Given the description of an element on the screen output the (x, y) to click on. 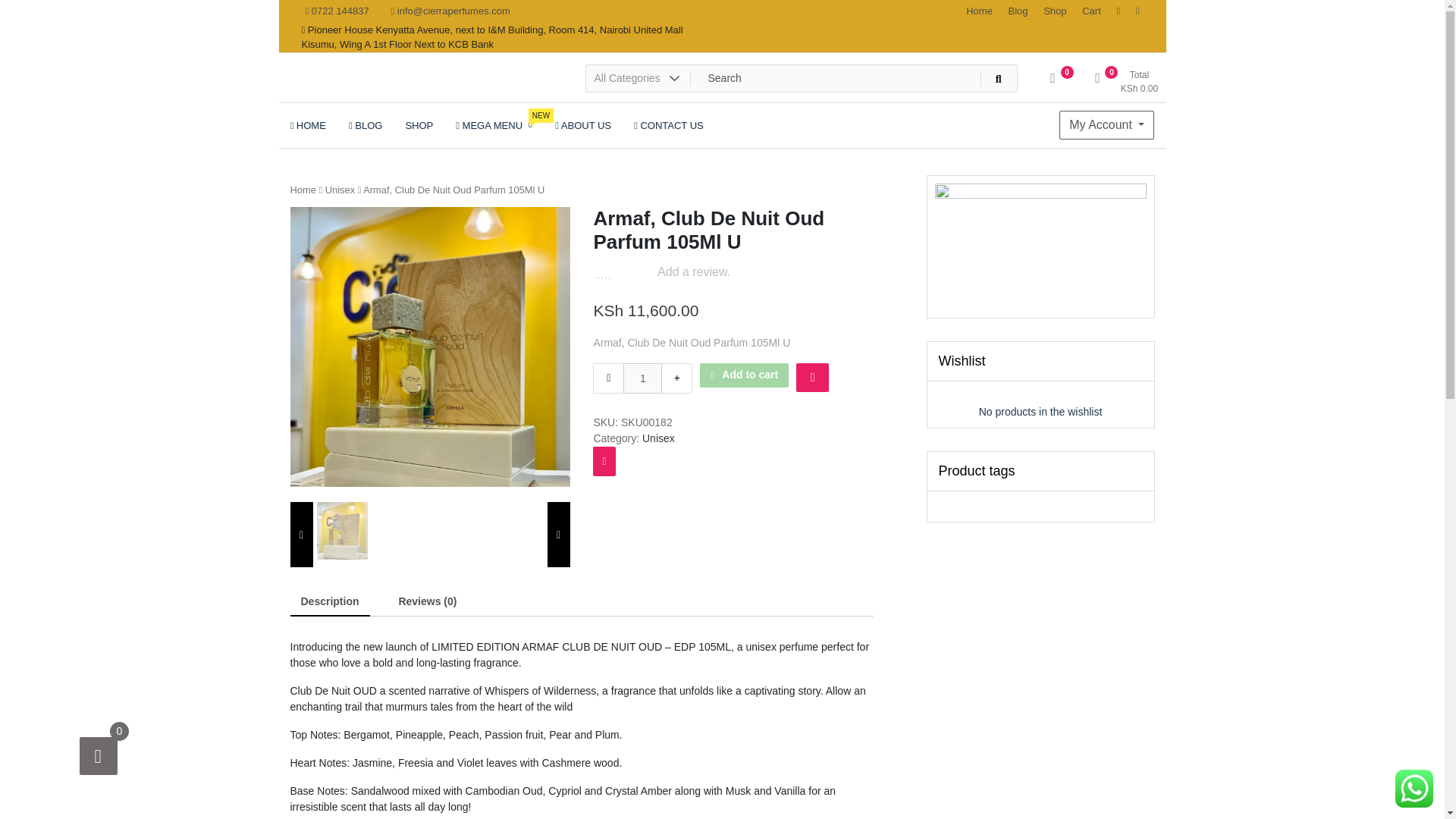
CONTACT US (668, 125)
Search for: (801, 78)
BLOG (365, 125)
Blog (1018, 11)
0 (1053, 82)
SHOP (493, 125)
My Account (418, 125)
Home (1106, 124)
Unisex (302, 189)
Shop (339, 189)
0722 144837 (1054, 11)
1 (336, 11)
Cart (642, 378)
ABOUT US (1091, 11)
